Given the description of an element on the screen output the (x, y) to click on. 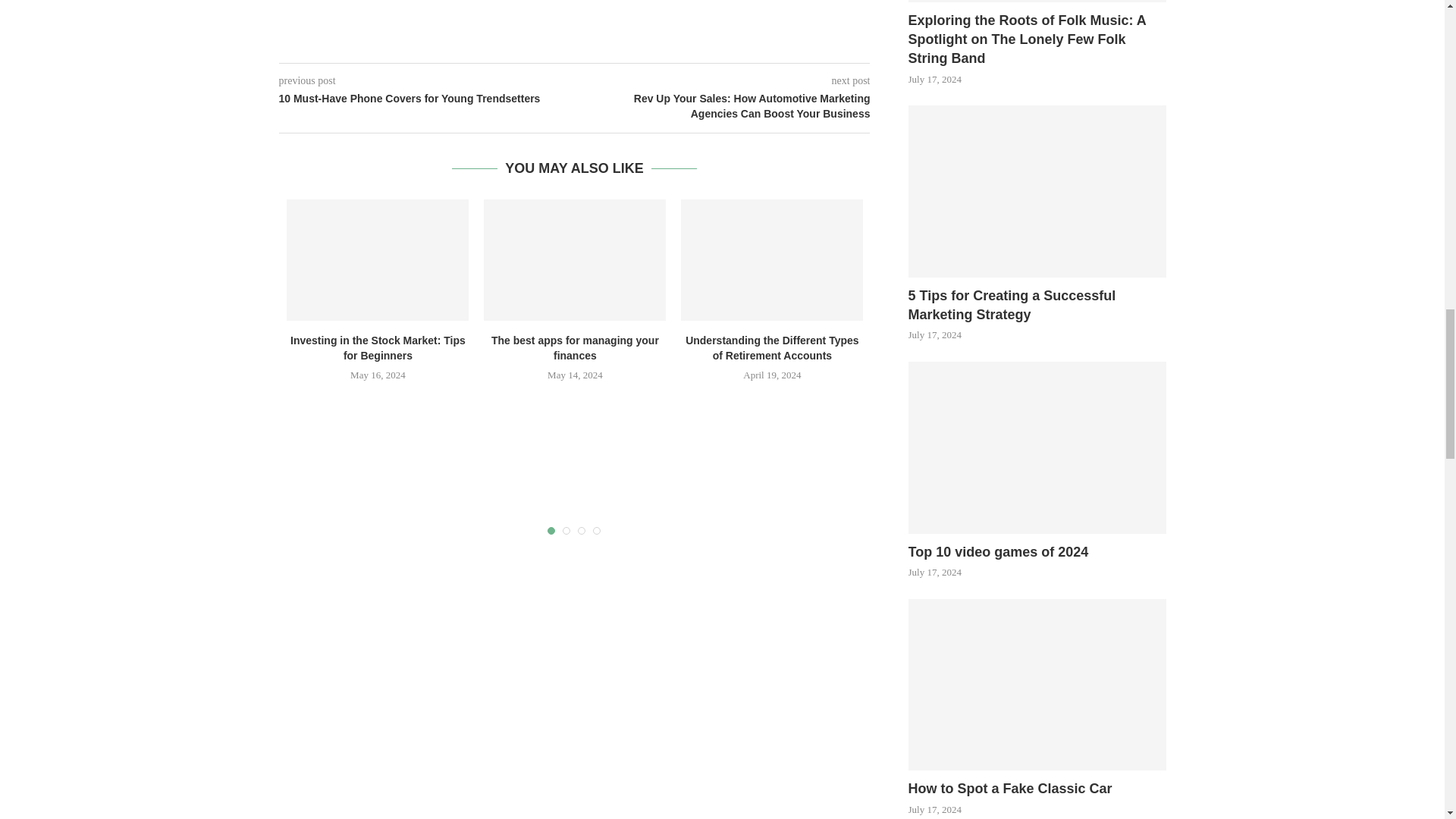
Investing in the Stock Market: Tips for Beginners (377, 260)
Understanding the Different Types of Retirement Accounts (772, 260)
The best apps for managing your finances (574, 260)
